Given the description of an element on the screen output the (x, y) to click on. 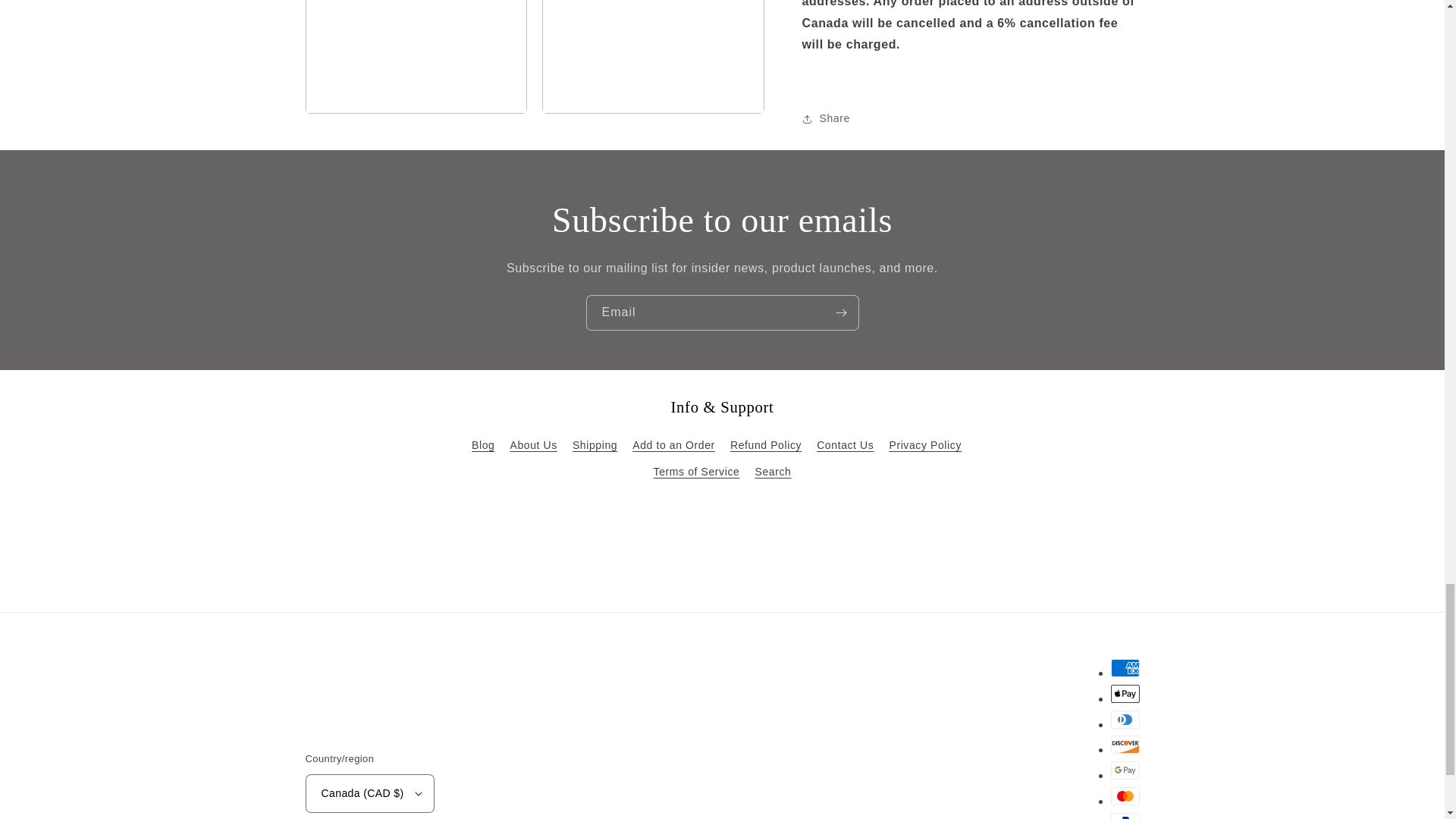
Diners Club (1123, 719)
Apple Pay (1123, 693)
Discover (1123, 744)
American Express (1123, 668)
